Given the description of an element on the screen output the (x, y) to click on. 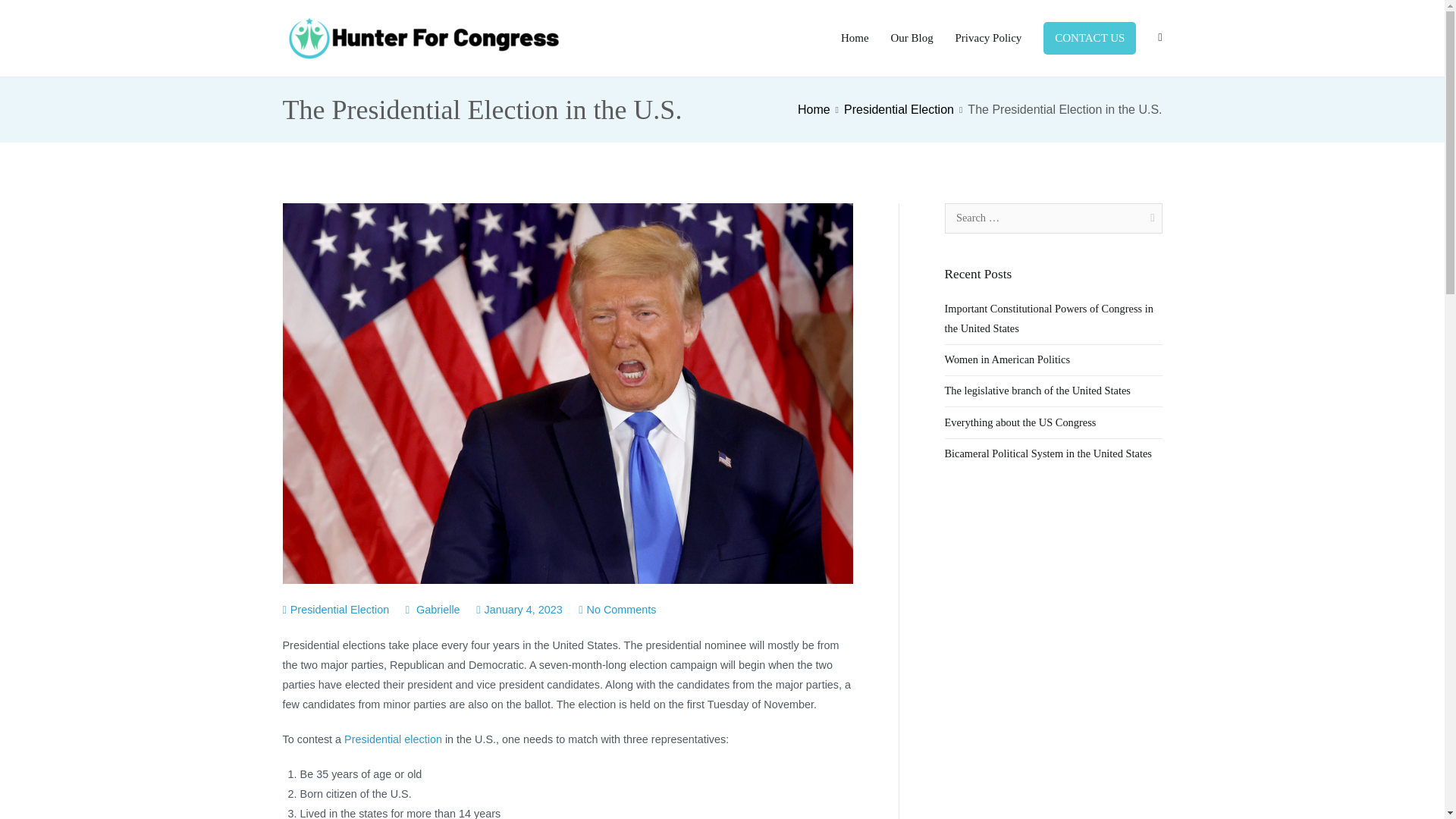
Everything about the US Congress (1020, 422)
Women in American Politics (1007, 359)
Presidential election (392, 739)
CONTACT US (1089, 38)
Search (28, 13)
Presidential Election (898, 109)
Hunter For Congress (644, 48)
Home (855, 37)
Bicameral Political System in the United States (1047, 453)
The legislative branch of the United States (1037, 390)
